Given the description of an element on the screen output the (x, y) to click on. 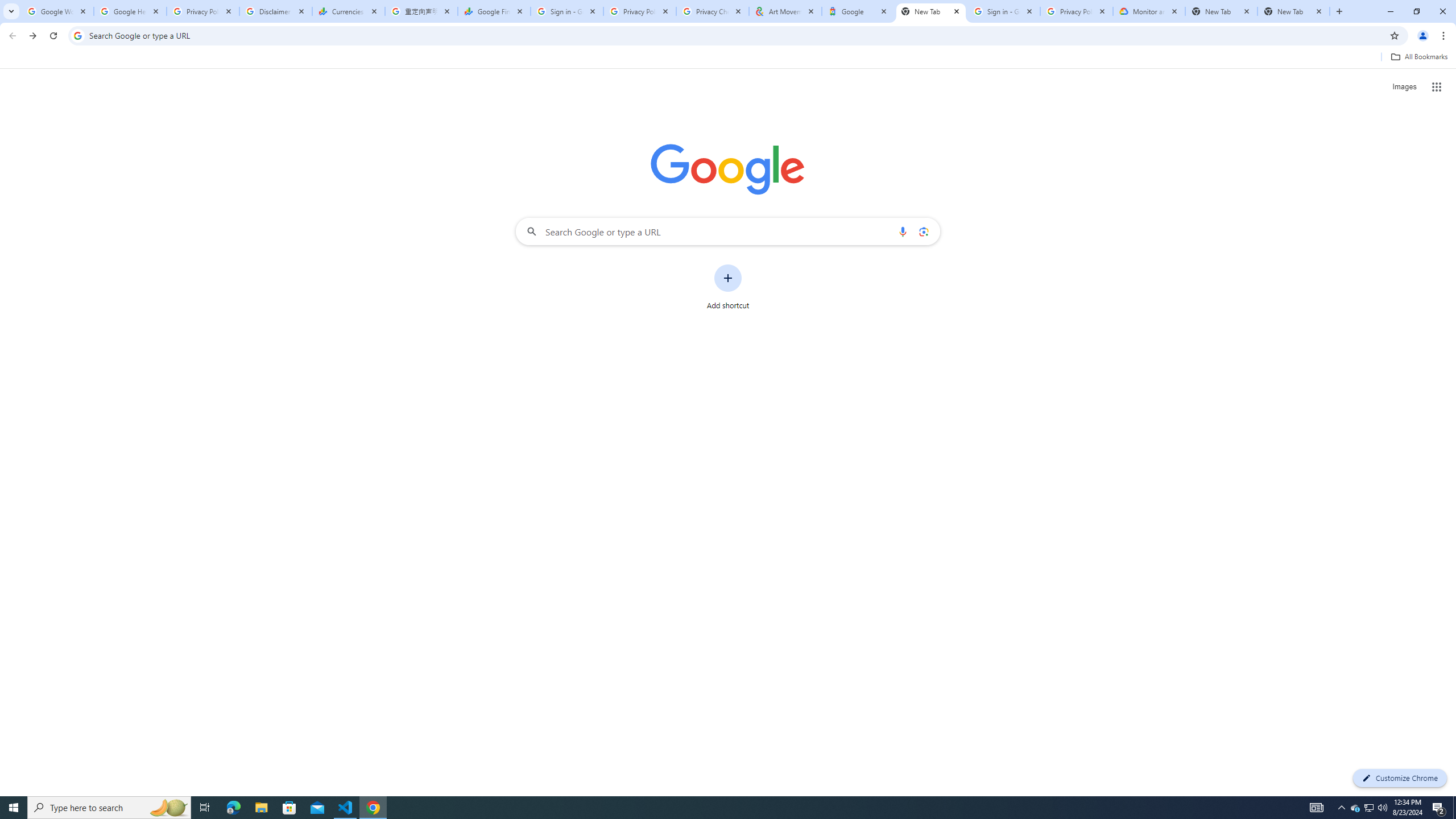
System (6, 6)
Search tabs (10, 11)
New Tab (1338, 11)
New Tab (1221, 11)
Search Google or type a URL (727, 230)
Google Workspace Admin Community (57, 11)
Search icon (77, 35)
Restore (1416, 11)
Privacy Checkup (712, 11)
Search by voice (902, 230)
Minimize (1390, 11)
